Given the description of an element on the screen output the (x, y) to click on. 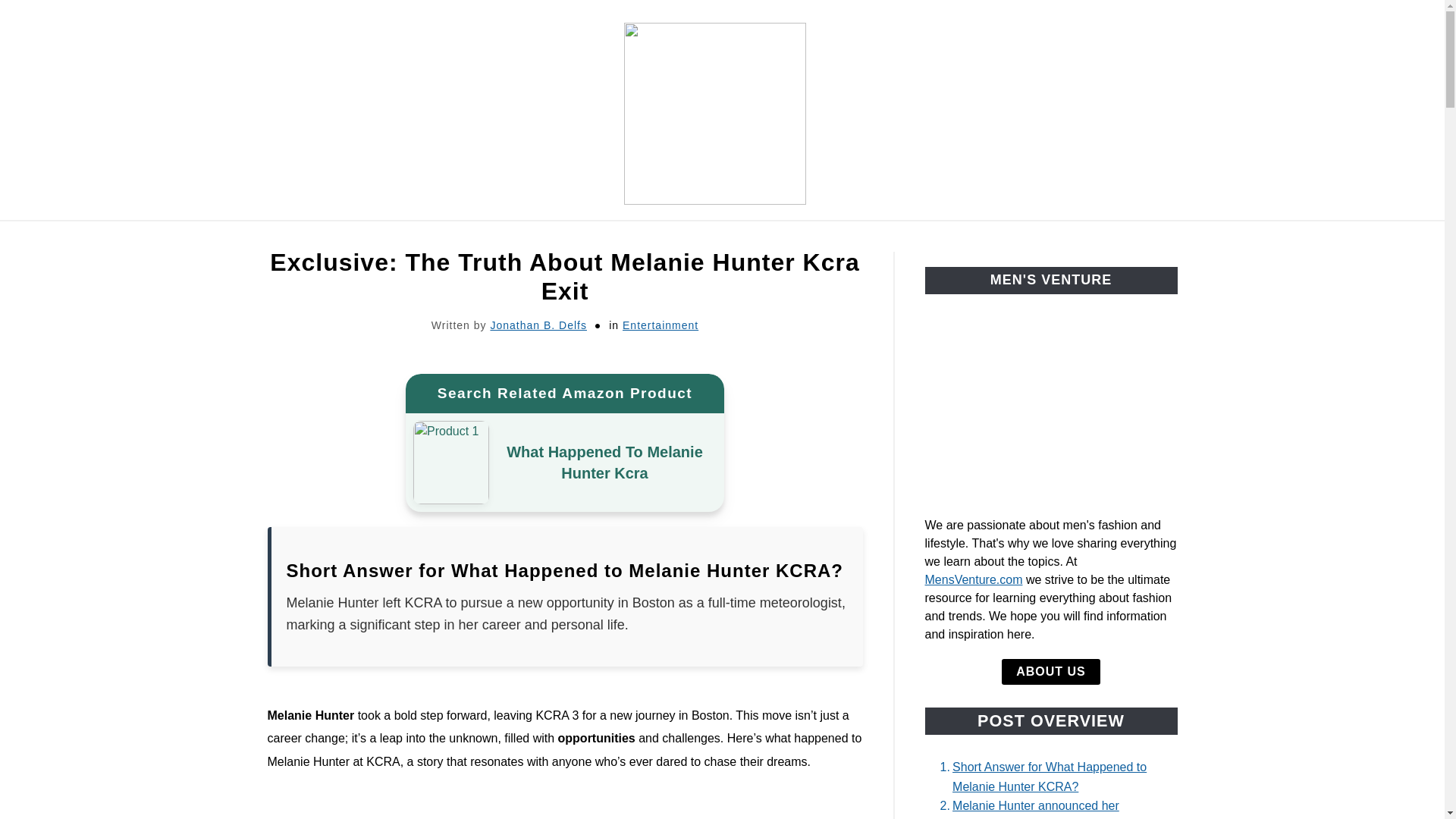
WRITE FOR US (1019, 238)
CLOTHING (481, 238)
Entertainment (660, 325)
HOME (394, 238)
GROOMING (586, 238)
COLOR MATCHING (717, 238)
ABOUT (916, 238)
OTHER (835, 238)
